Given the description of an element on the screen output the (x, y) to click on. 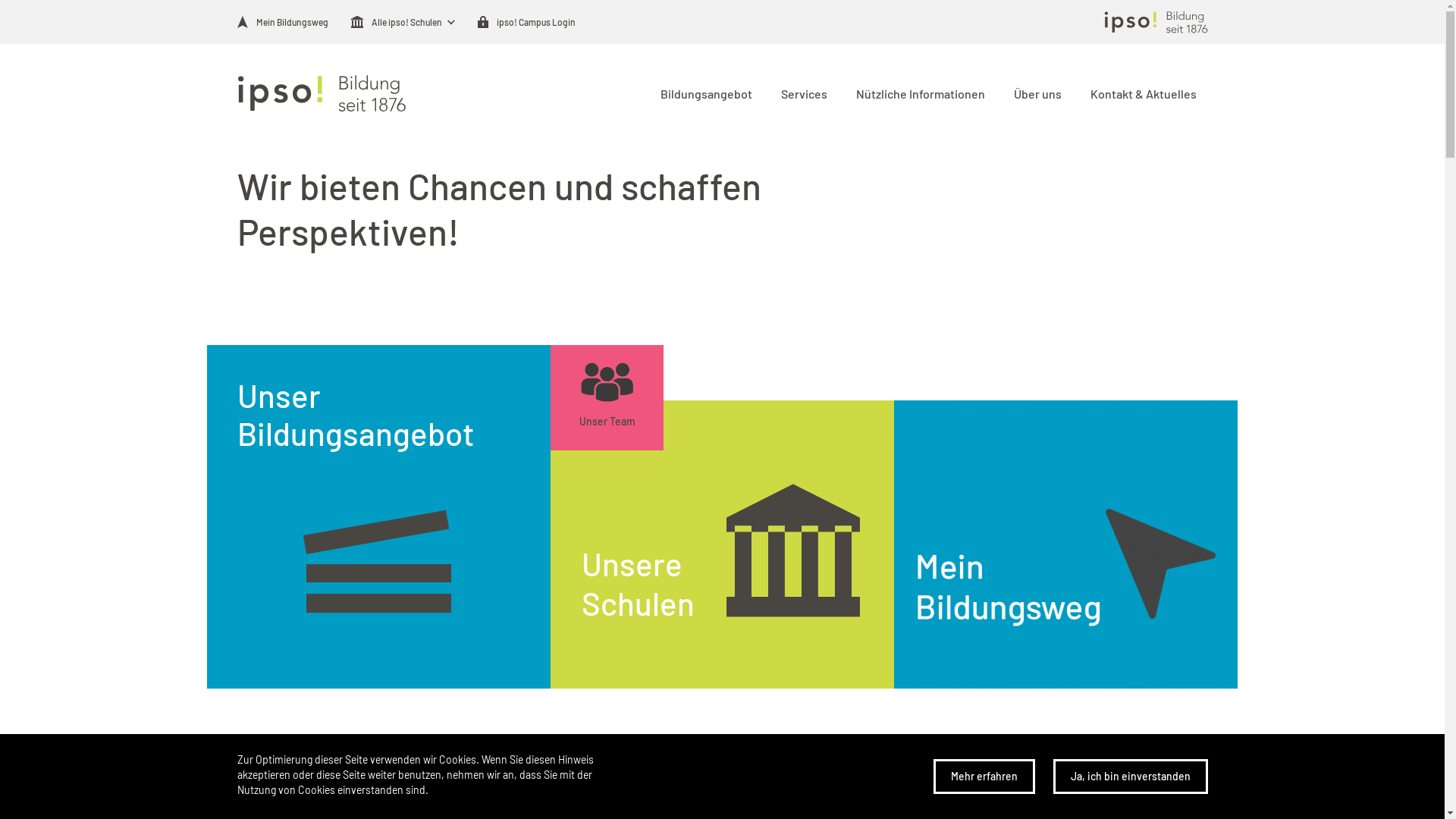
Bildungsangebot Element type: text (704, 92)
Alle ipso! Schulen Element type: text (395, 21)
Mehr erfahren Element type: text (983, 776)
Services Element type: text (801, 92)
Direkt zum Inhalt Element type: text (0, 102)
Kontakt & Aktuelles Element type: text (1140, 92)
ipso! Campus Login Element type: text (526, 21)
Unser Bildungsangebot Element type: text (377, 516)
Unsere
Schulen Element type: text (722, 544)
Ja, ich bin einverstanden Element type: text (1129, 776)
Unser Team Element type: text (607, 397)
Mein Bildungsweg Element type: text (281, 21)
